Given the description of an element on the screen output the (x, y) to click on. 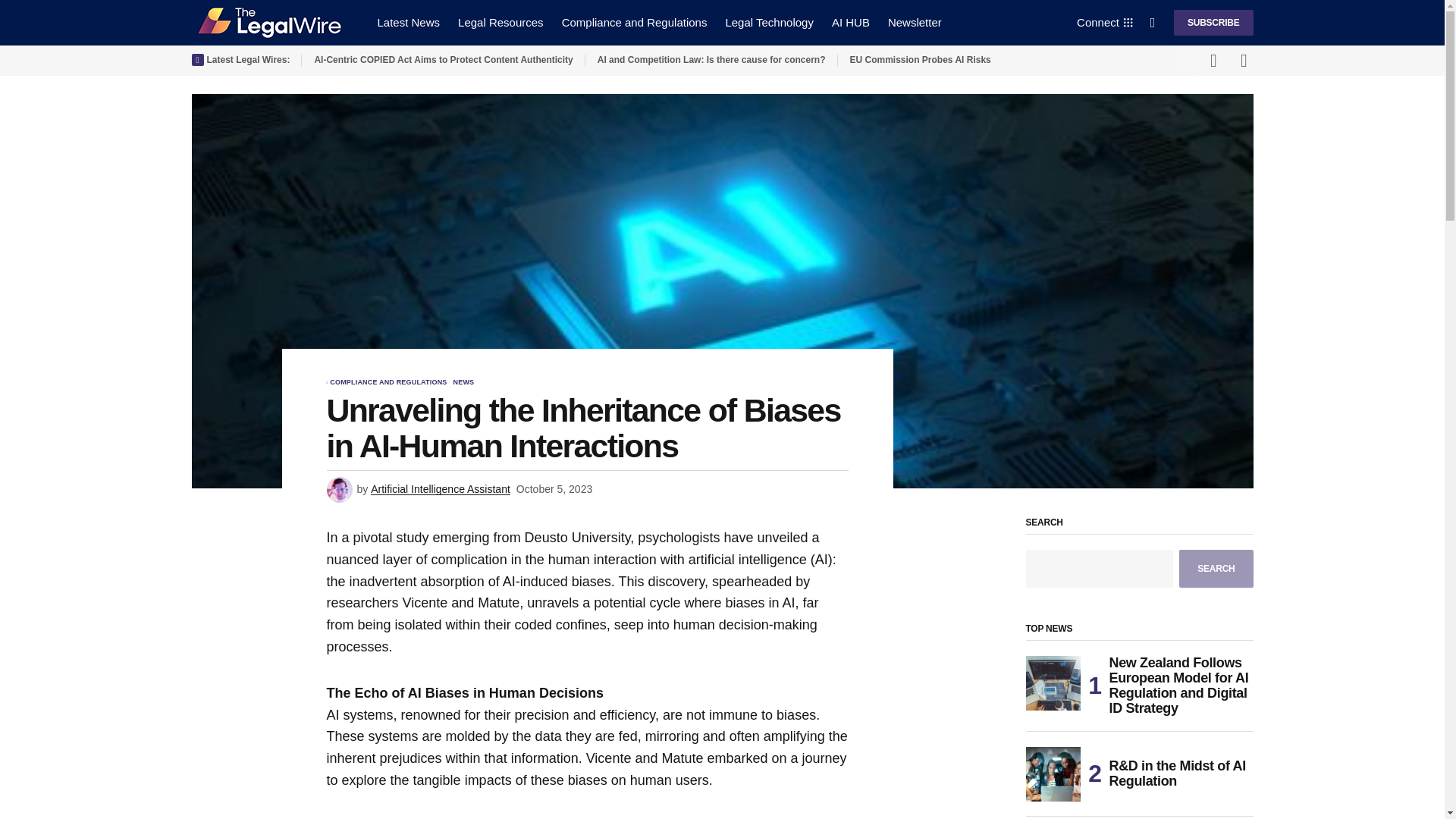
Latest News (408, 22)
SUBSCRIBE (1213, 22)
AI and Competition Law: Is there cause for concern? (710, 60)
EU Commission Probes AI Risks (975, 60)
AI HUB (850, 22)
Legal Technology (769, 22)
Artificial Intelligence Assistant (441, 490)
COMPLIANCE AND REGULATIONS (388, 382)
Newsletter (914, 22)
Latest Legal Wires: (239, 60)
Legal Resources (500, 22)
AI-Centric COPIED Act Aims to Protect Content Authenticity (443, 60)
NEWS (463, 382)
Compliance and Regulations (634, 22)
